Given the description of an element on the screen output the (x, y) to click on. 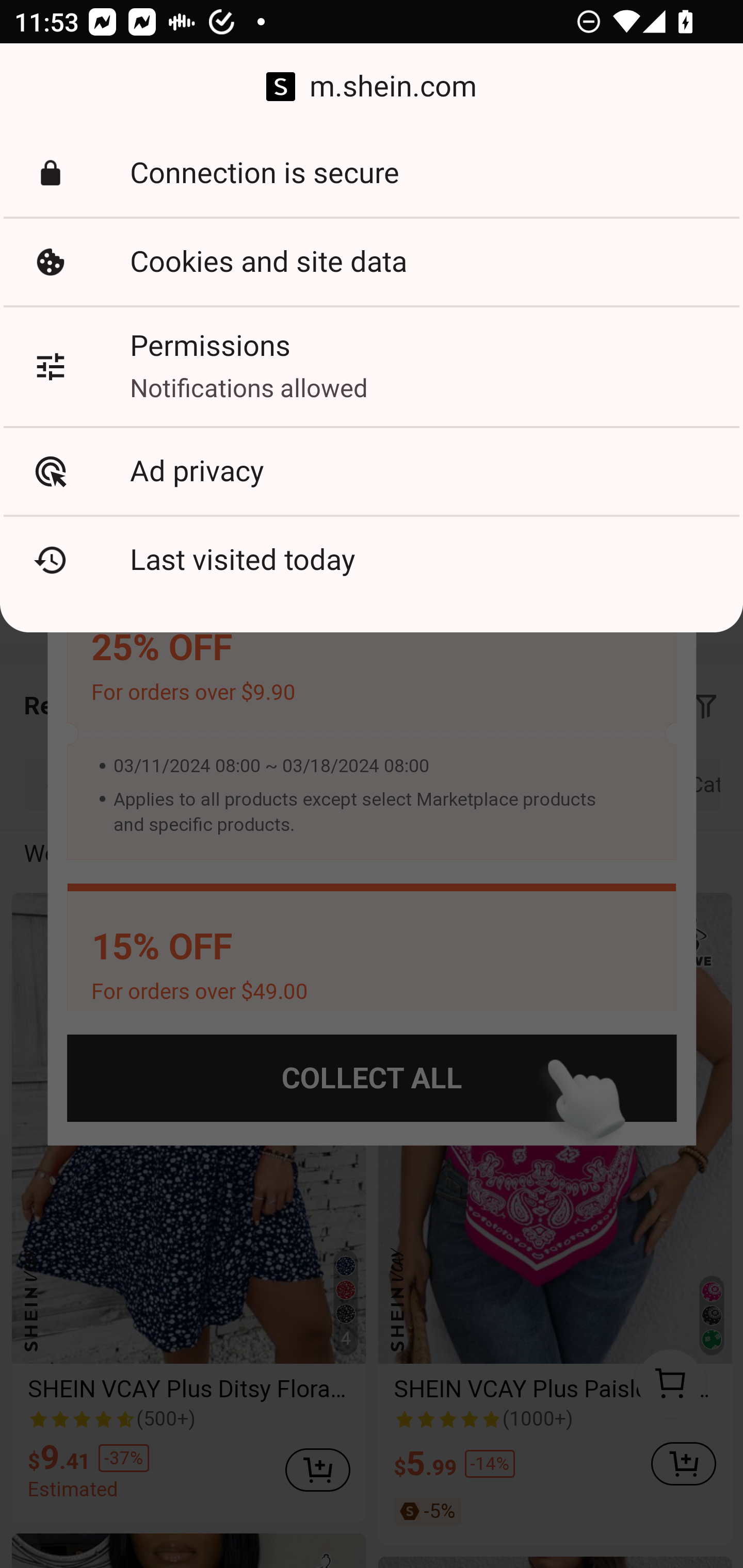
m.shein.com (371, 86)
Connection is secure (371, 173)
Cookies and site data (371, 261)
Permissions Notifications allowed (371, 366)
Ad privacy (371, 471)
Last visited today (371, 560)
